Given the description of an element on the screen output the (x, y) to click on. 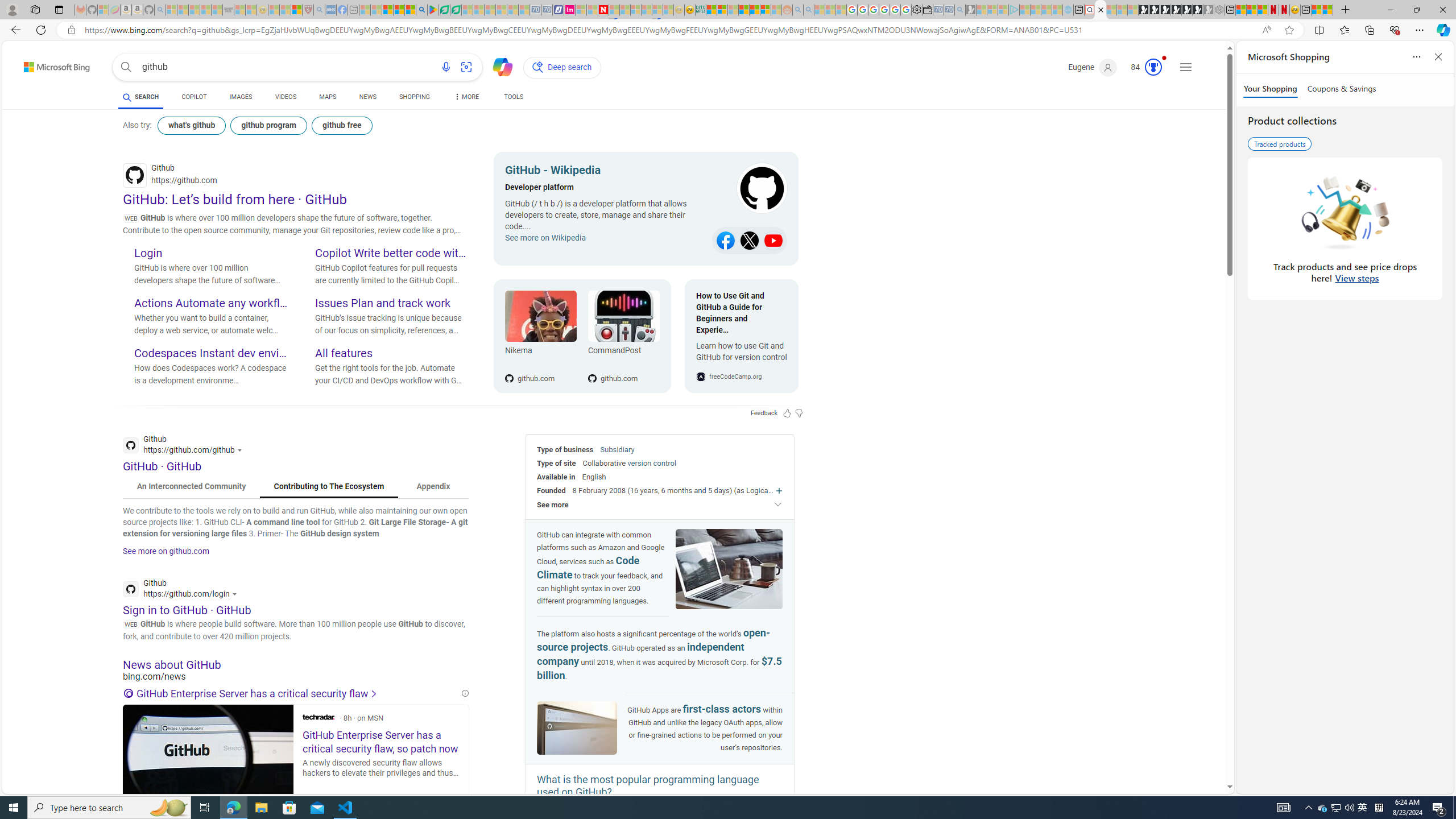
Actions Automate any workflow (210, 304)
AutomationID: rh_meter (1152, 66)
CommandPost (623, 352)
Github (182, 589)
Copilot Write better code with AI (391, 254)
COPILOT (193, 98)
All features (391, 353)
NEWS (367, 96)
Search using an image (465, 66)
